Given the description of an element on the screen output the (x, y) to click on. 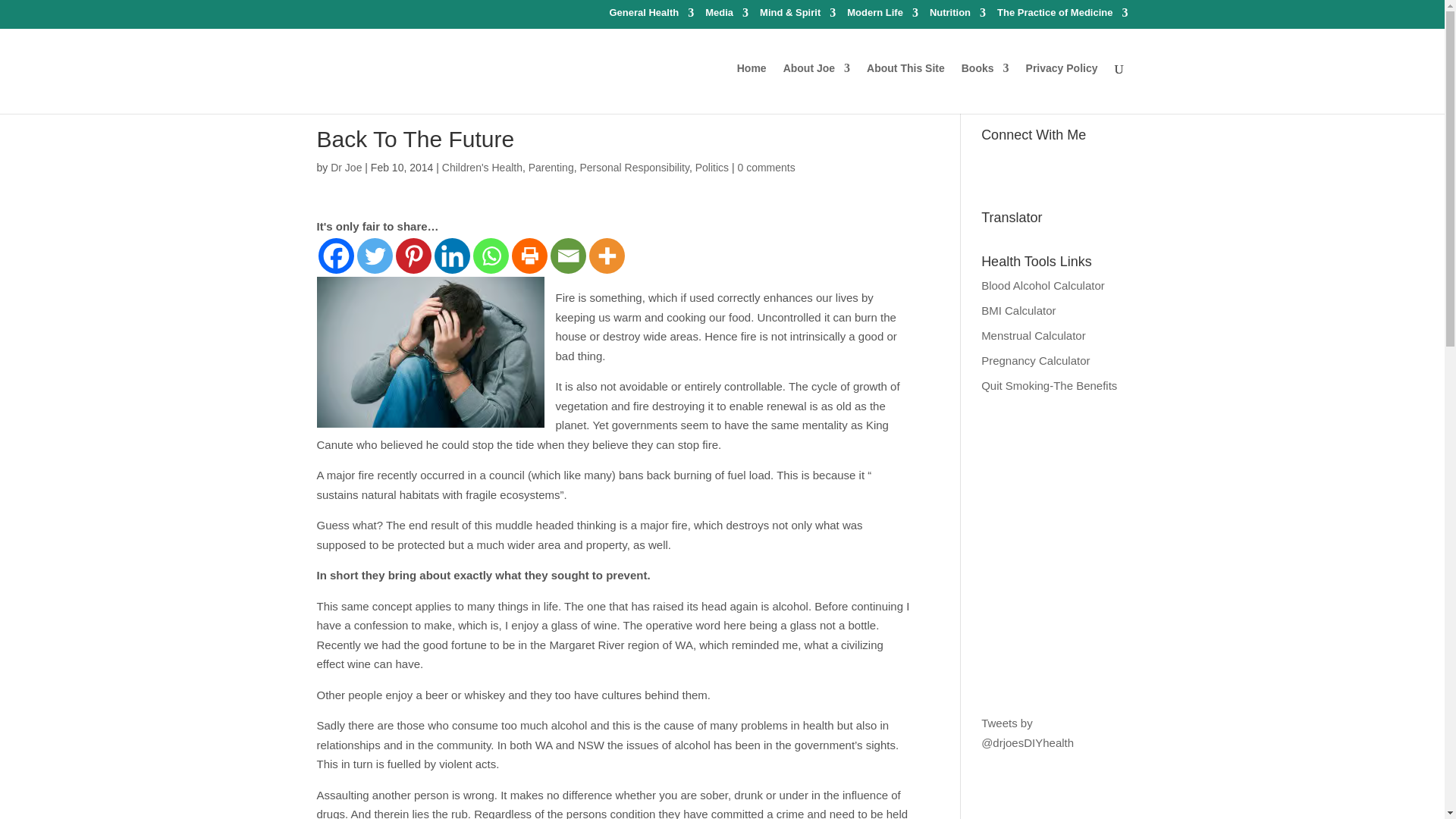
Facebook (335, 255)
Pinterest (413, 255)
Linkedin (450, 255)
Email (568, 255)
Print (529, 255)
More (606, 255)
General Health (651, 16)
Media (726, 16)
Twitter (373, 255)
Posts by Dr Joe (345, 167)
Whatsapp (490, 255)
